Given the description of an element on the screen output the (x, y) to click on. 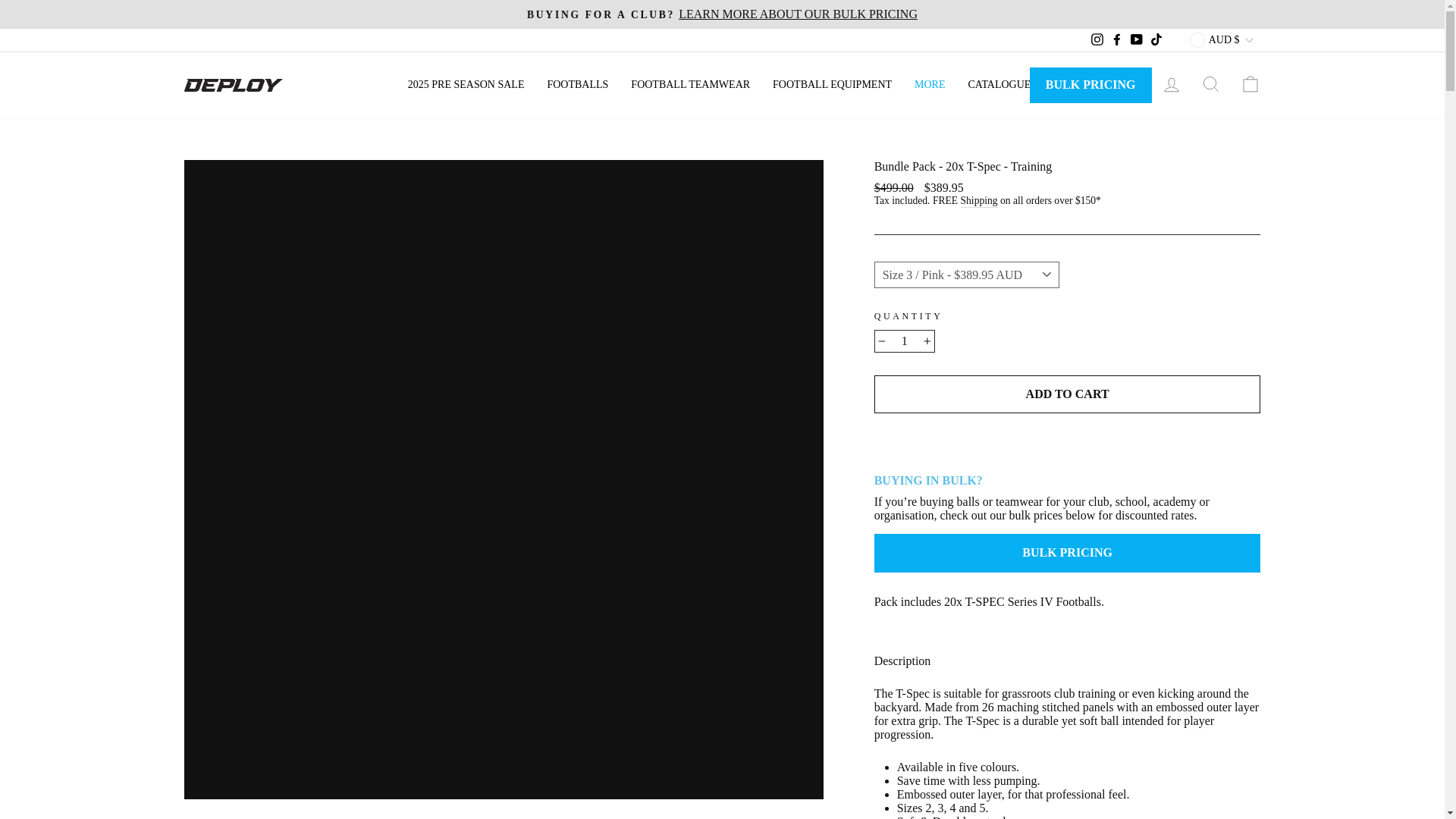
Deploy Football on TikTok (1156, 39)
Deploy Football on Facebook (1116, 39)
1 (904, 341)
Deploy Football on YouTube (1136, 39)
Deploy Football on Instagram (1096, 39)
